Given the description of an element on the screen output the (x, y) to click on. 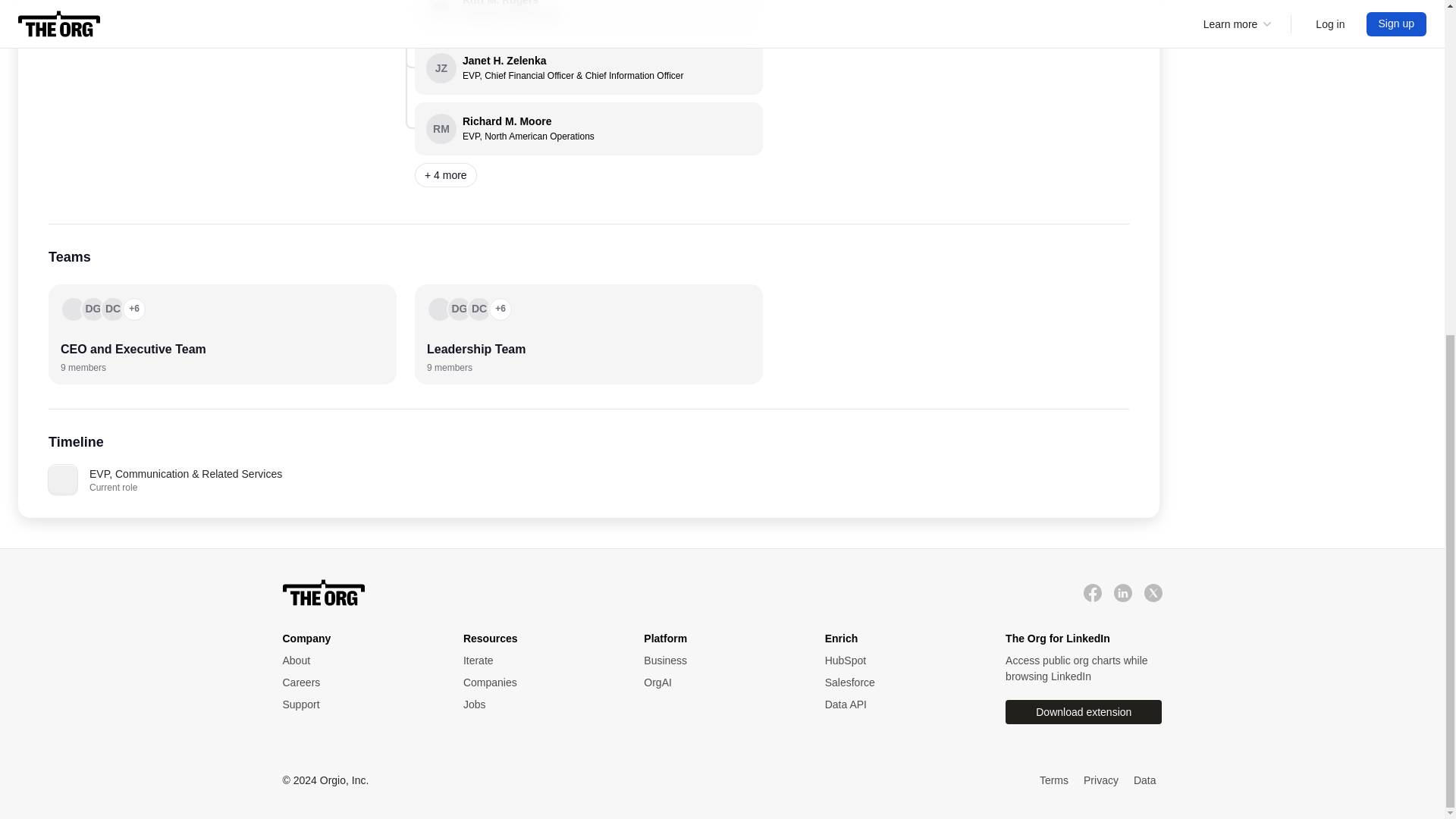
Jobs (588, 128)
Careers (537, 704)
HubSpot (357, 682)
Business (900, 660)
Data (718, 660)
Support (1145, 780)
Careers (357, 704)
Iterate (357, 682)
Iterate (537, 660)
Salesforce (537, 660)
Business (900, 682)
About (718, 660)
OrgAI (357, 660)
Privacy (718, 682)
